Given the description of an element on the screen output the (x, y) to click on. 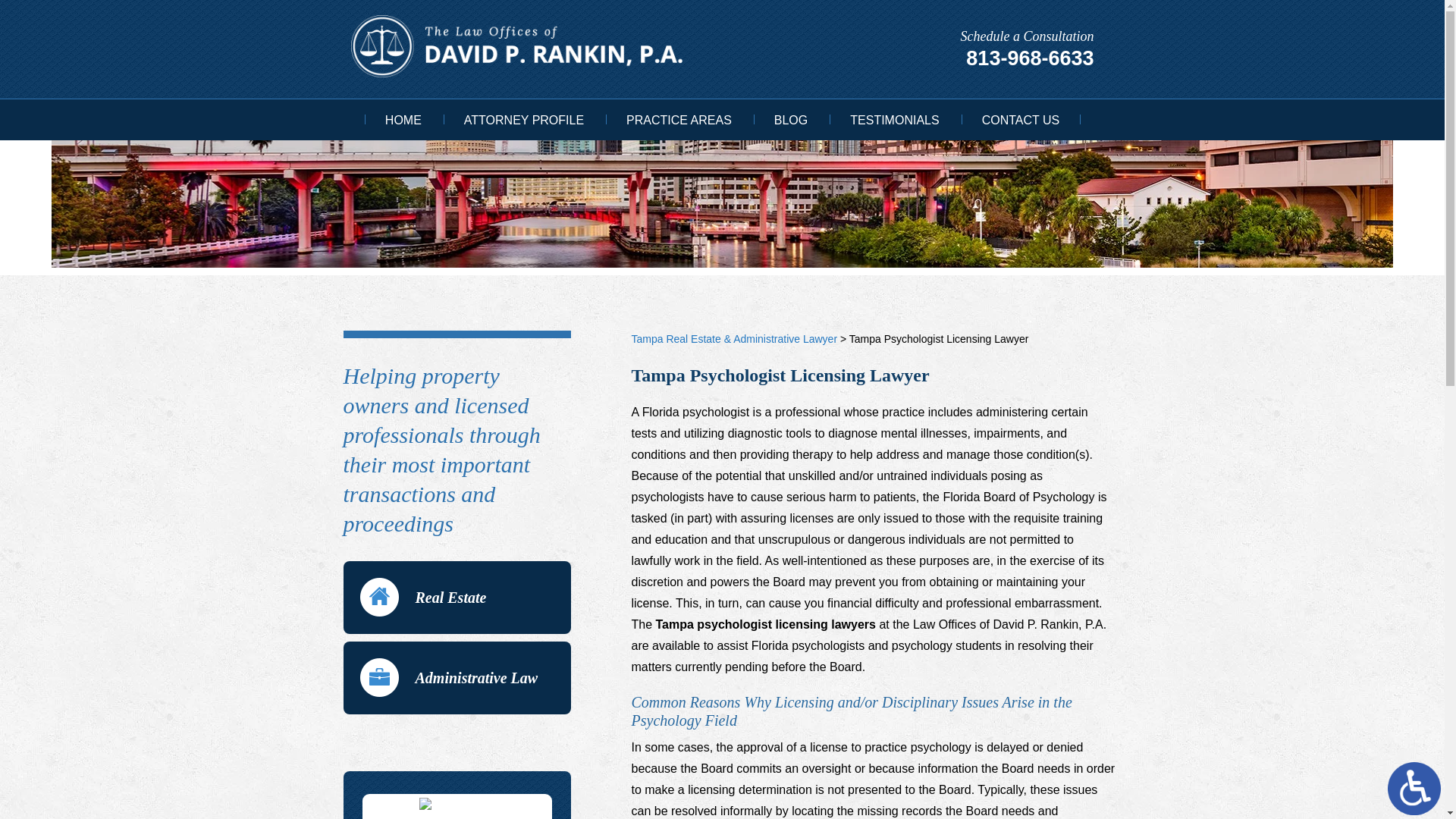
HOME (403, 120)
CONTACT US (1021, 120)
ATTORNEY PROFILE (522, 120)
BLOG (790, 120)
PRACTICE AREAS (678, 120)
TESTIMONIALS (893, 120)
813-968-6633 (1029, 57)
Real Estate (456, 597)
Administrative Law (456, 677)
